Given the description of an element on the screen output the (x, y) to click on. 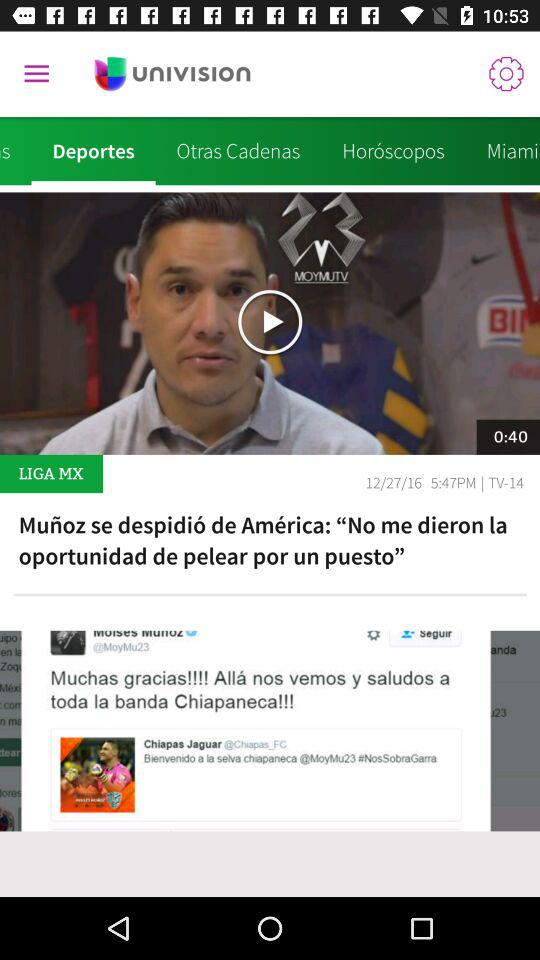
univision (172, 73)
